Given the description of an element on the screen output the (x, y) to click on. 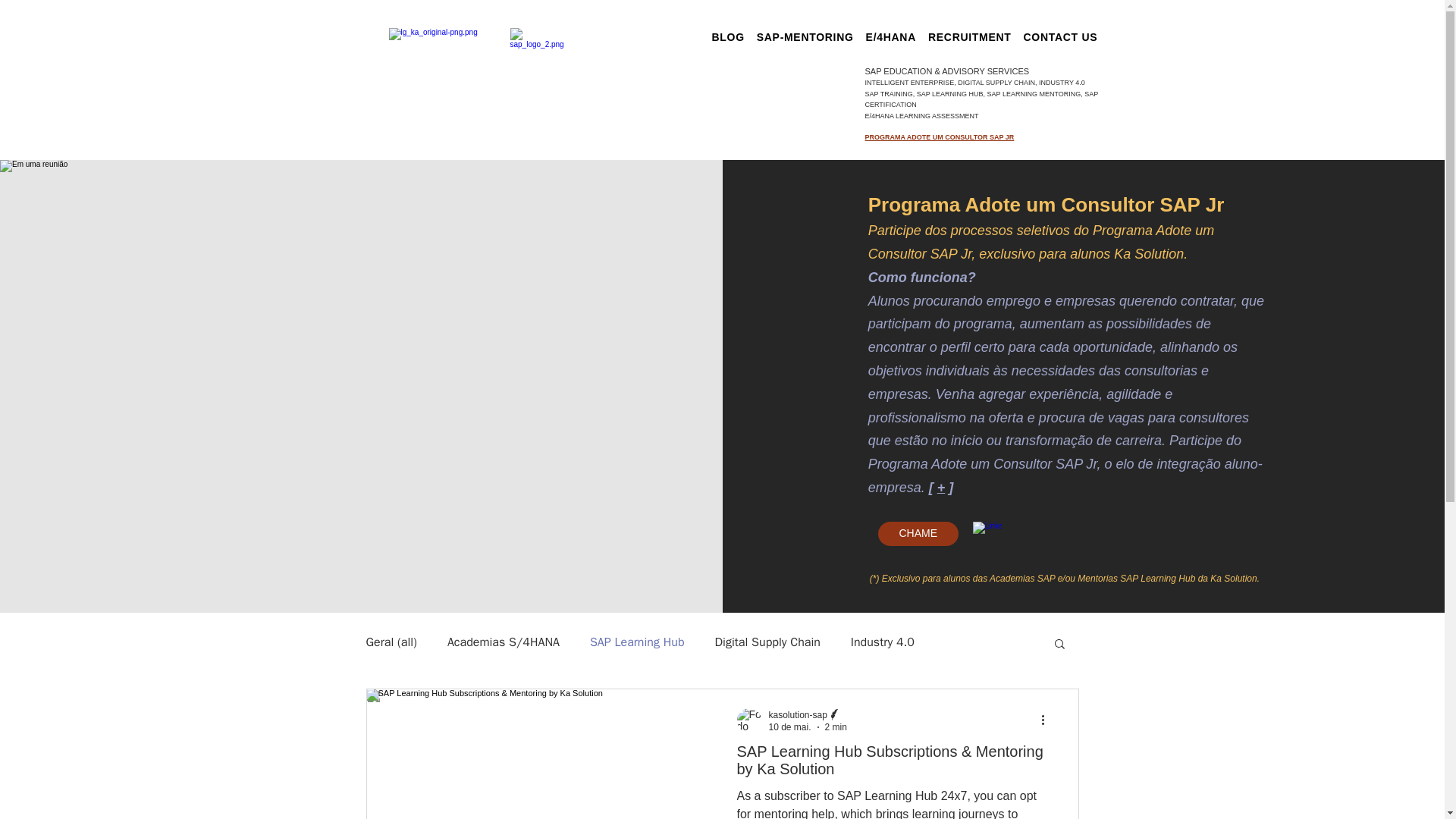
PROGRAMA ADOTE UM CONSULTOR SAP JR (938, 136)
SAP Learning Hub (636, 642)
kasolution-sap (797, 715)
Digital Supply Chain (767, 642)
Industry 4.0 (882, 642)
2 min (836, 726)
10 de mai. (789, 726)
CHAME (917, 533)
BLOG (726, 36)
CONTACT US (1060, 36)
